Given the description of an element on the screen output the (x, y) to click on. 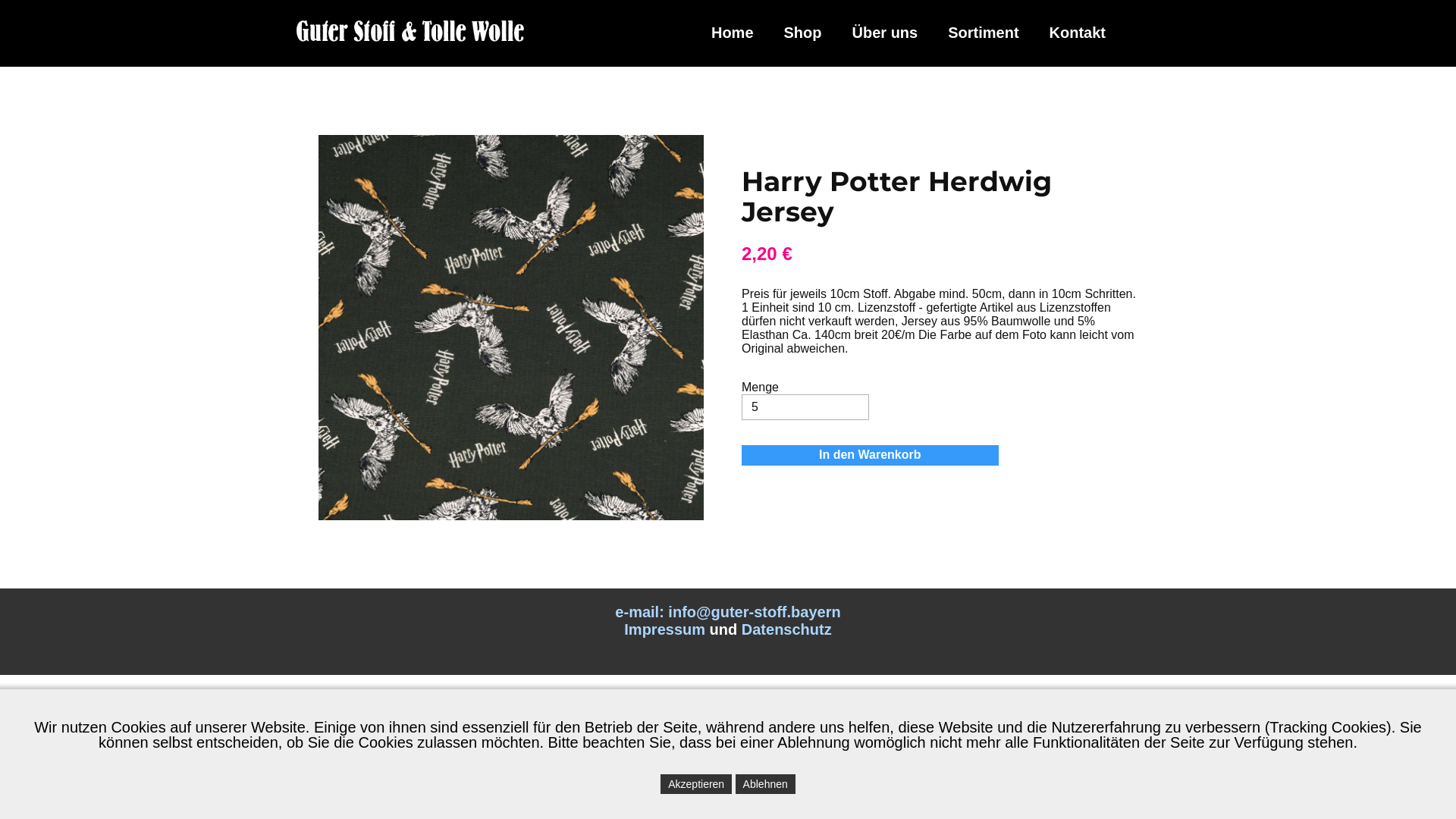
Datenschutz Element type: text (786, 629)
In den Warenkorb Element type: text (869, 455)
Harry Potter Herdwig Jersey Element type: text (896, 196)
Ablehnen Element type: text (765, 783)
Shop Element type: text (802, 32)
Kontakt Element type: text (1077, 32)
Sortiment Element type: text (982, 32)
Home Element type: text (732, 32)
e-mail: info@guter-stoff.bayern Element type: text (727, 611)
Akzeptieren Element type: text (695, 783)
Impressum Element type: text (664, 629)
